Given the description of an element on the screen output the (x, y) to click on. 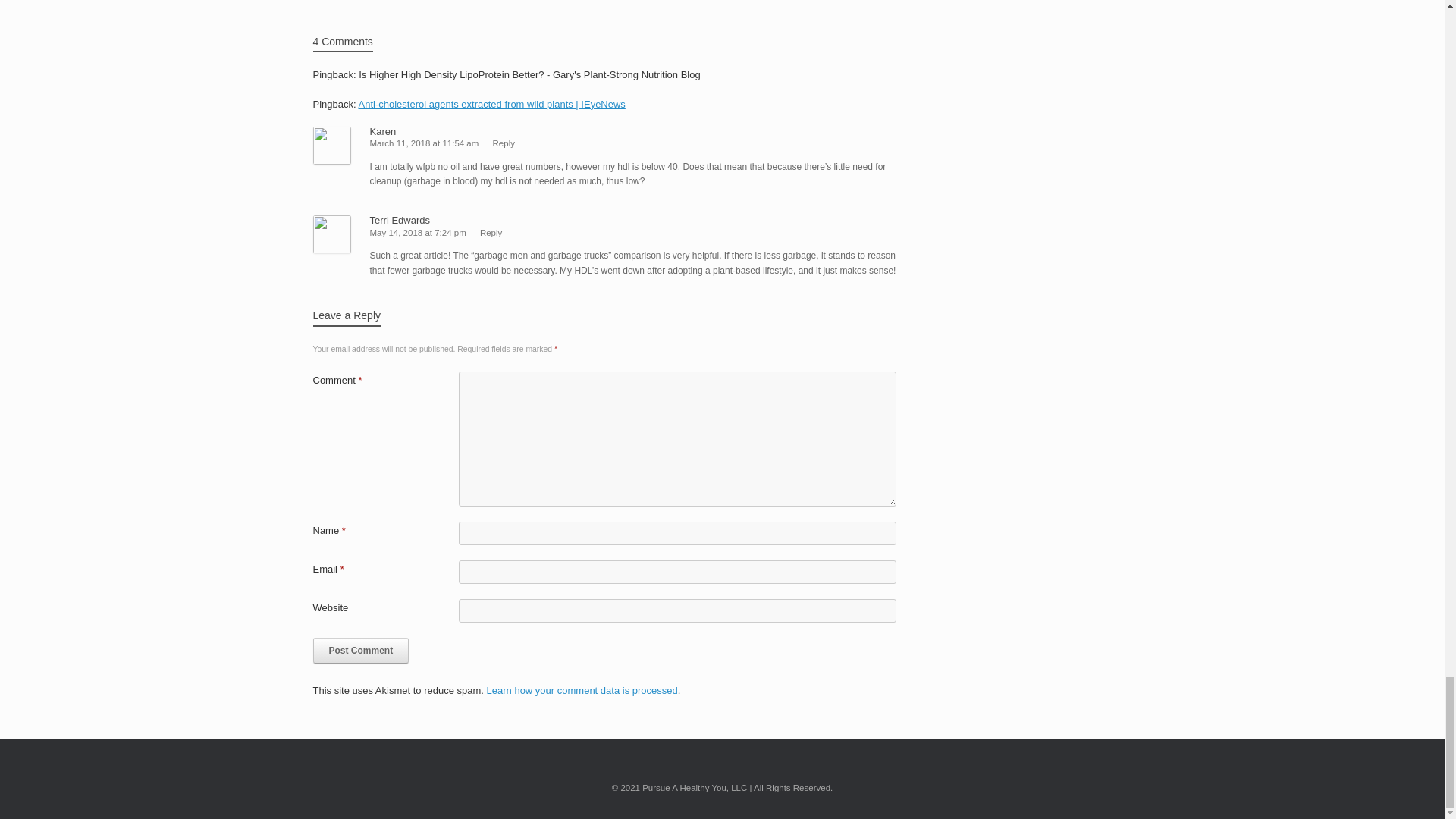
Post Comment (361, 650)
